Given the description of an element on the screen output the (x, y) to click on. 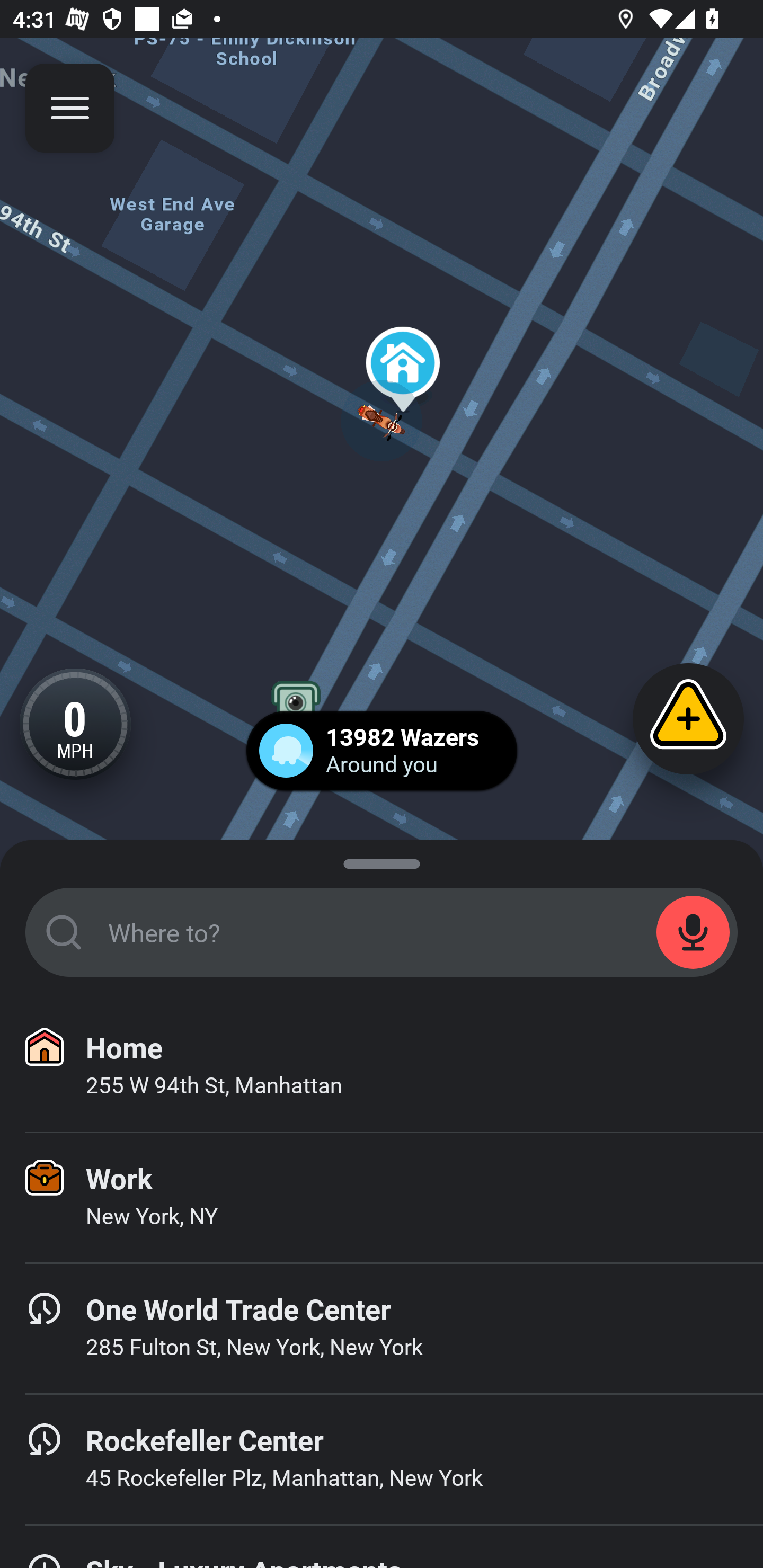
SUGGESTIONS_SHEET_DRAG_HANDLE (381, 860)
START_STATE_SEARCH_FIELD Where to? (381, 931)
Home 255 W 94th St, Manhattan (381, 1066)
Work New York, NY (381, 1197)
